Given the description of an element on the screen output the (x, y) to click on. 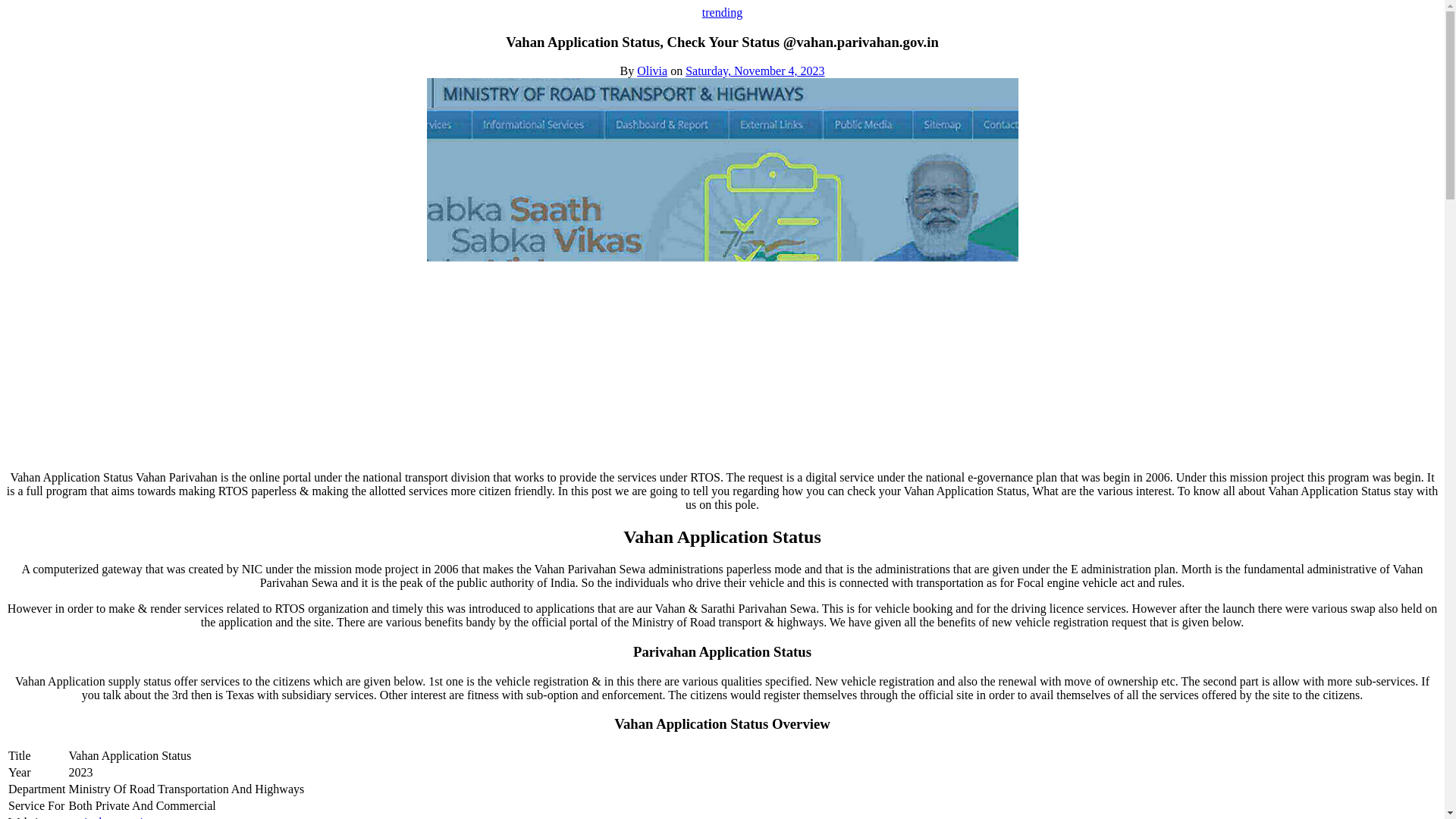
Olivia (651, 70)
Saturday, November 4, 2023 (754, 70)
parivahan.gov.in (108, 817)
trending (721, 11)
Posts by Olivia (651, 70)
